Given the description of an element on the screen output the (x, y) to click on. 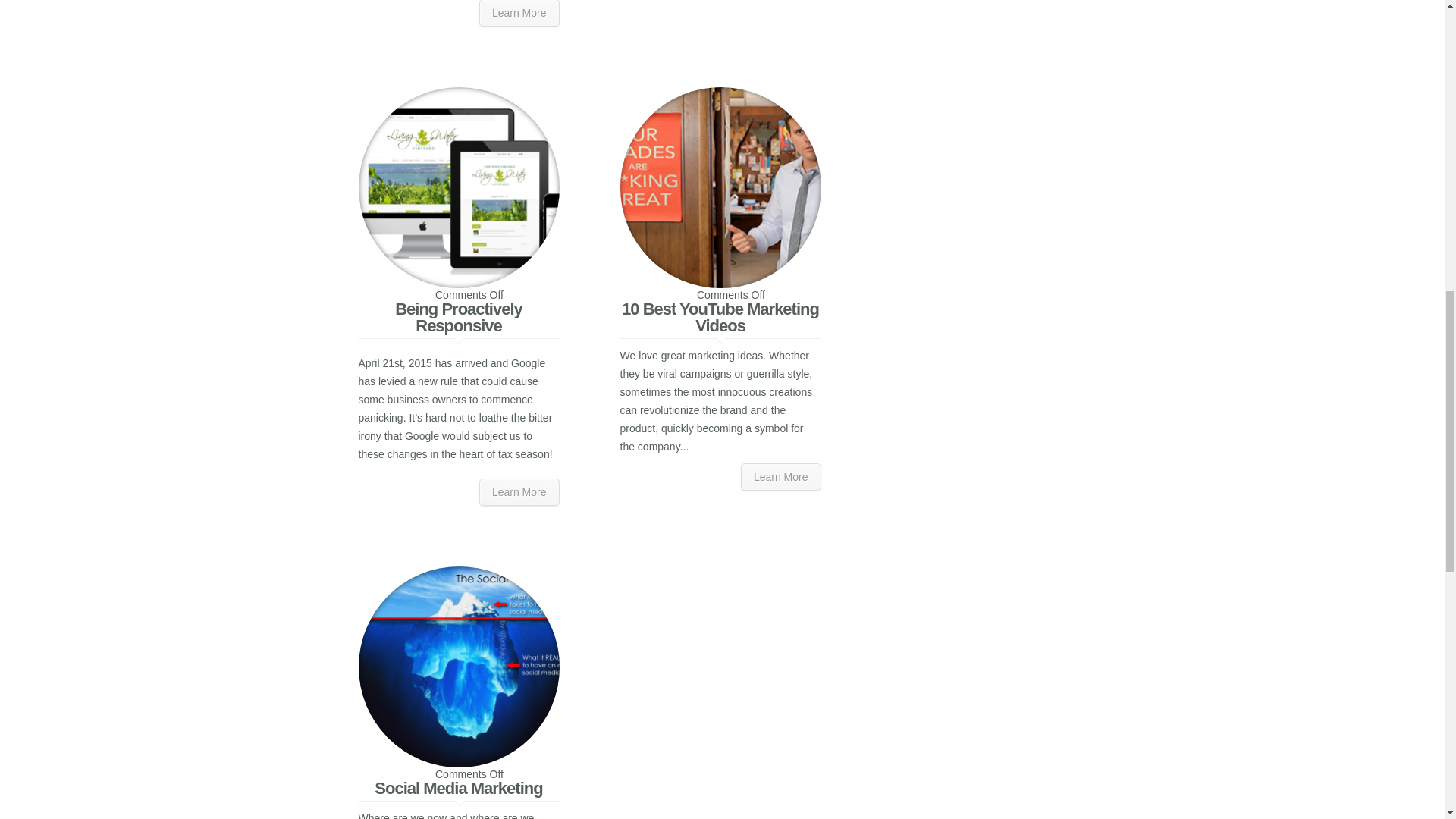
Learn More (519, 13)
Learn More (519, 492)
Being Proactively Responsive (458, 316)
10 Best YouTube Marketing Videos (719, 316)
